Given the description of an element on the screen output the (x, y) to click on. 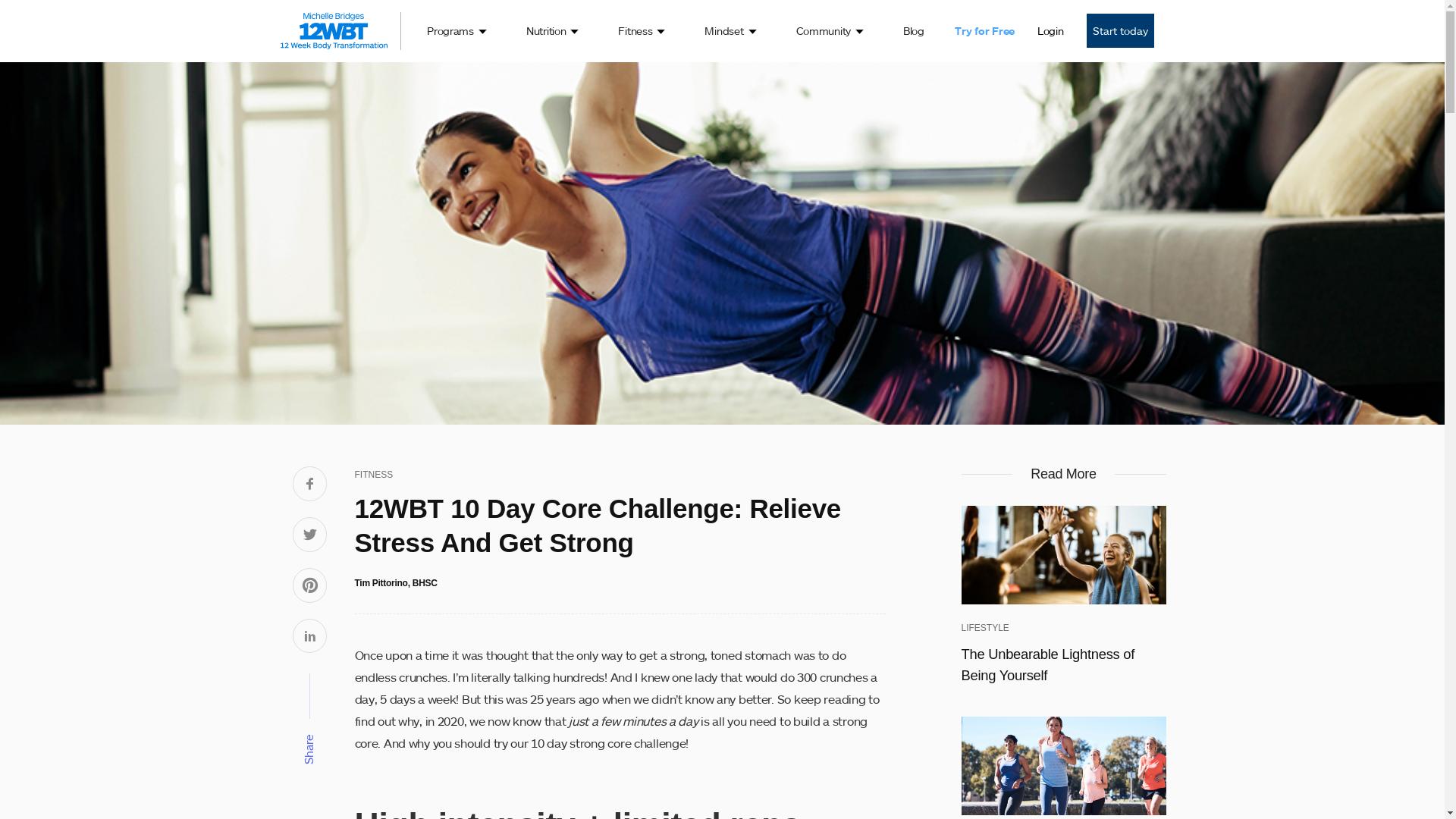
Mindset Element type: text (730, 30)
Start today Element type: text (1119, 30)
Login Element type: text (1050, 30)
Share on Pinterest Element type: hover (309, 586)
Community Element type: text (829, 30)
Fitness Element type: text (641, 30)
Nutrition Element type: text (552, 30)
LIFESTYLE Element type: text (985, 627)
Tim Pittorino, BHSC Element type: text (395, 582)
Share on Linkedin Element type: hover (309, 636)
Share on Facebook Element type: hover (309, 484)
FITNESS Element type: text (373, 474)
Try for Free Element type: text (984, 30)
Programs Element type: text (456, 30)
The Unbearable Lightness of Being Yourself Element type: text (1063, 664)
Blog Element type: text (913, 30)
Share on Twitter Element type: hover (309, 535)
